Given the description of an element on the screen output the (x, y) to click on. 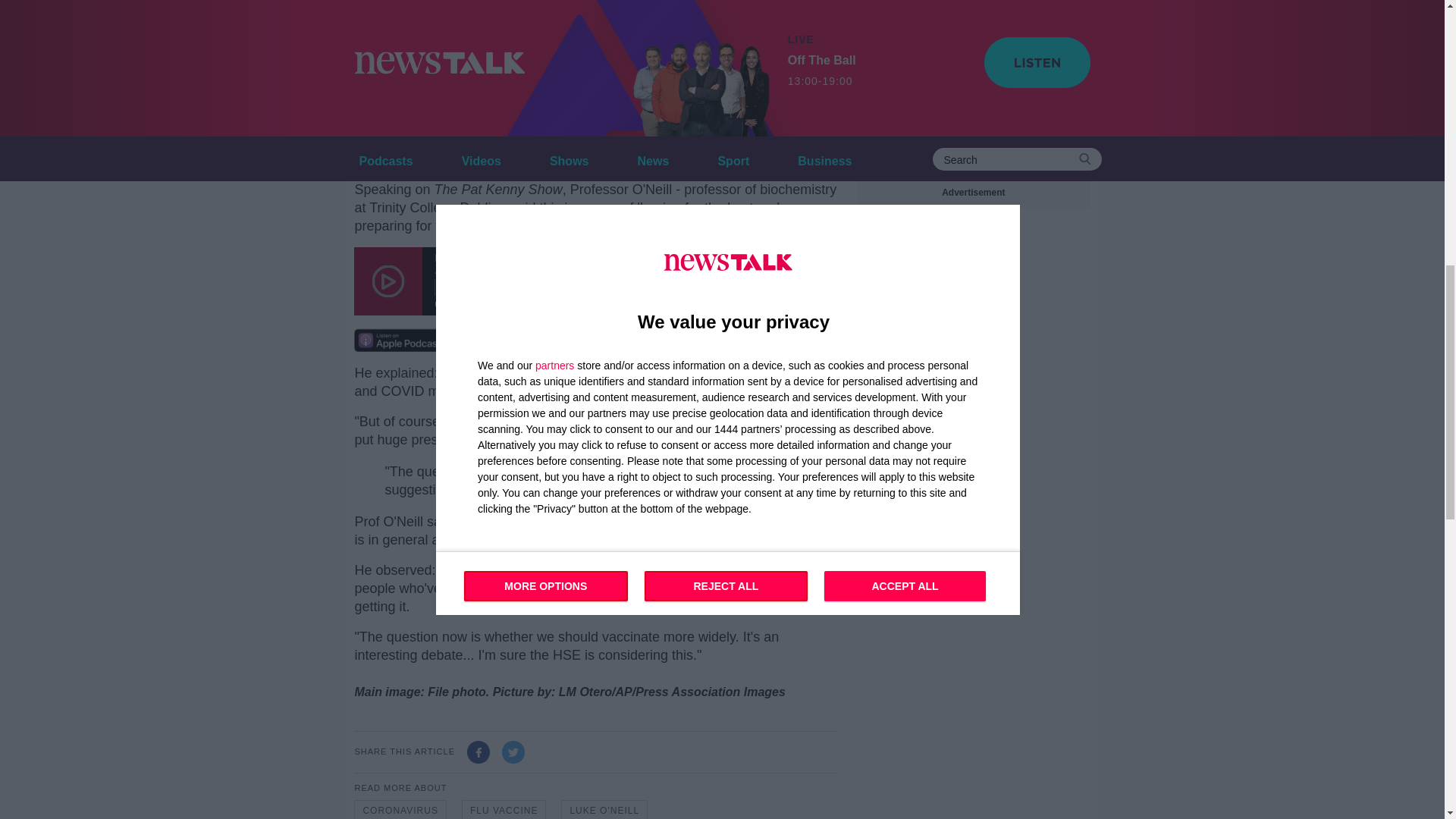
according to The Guardian (520, 159)
CORONAVIRUS (399, 809)
The Washington Post reports (448, 92)
